Given the description of an element on the screen output the (x, y) to click on. 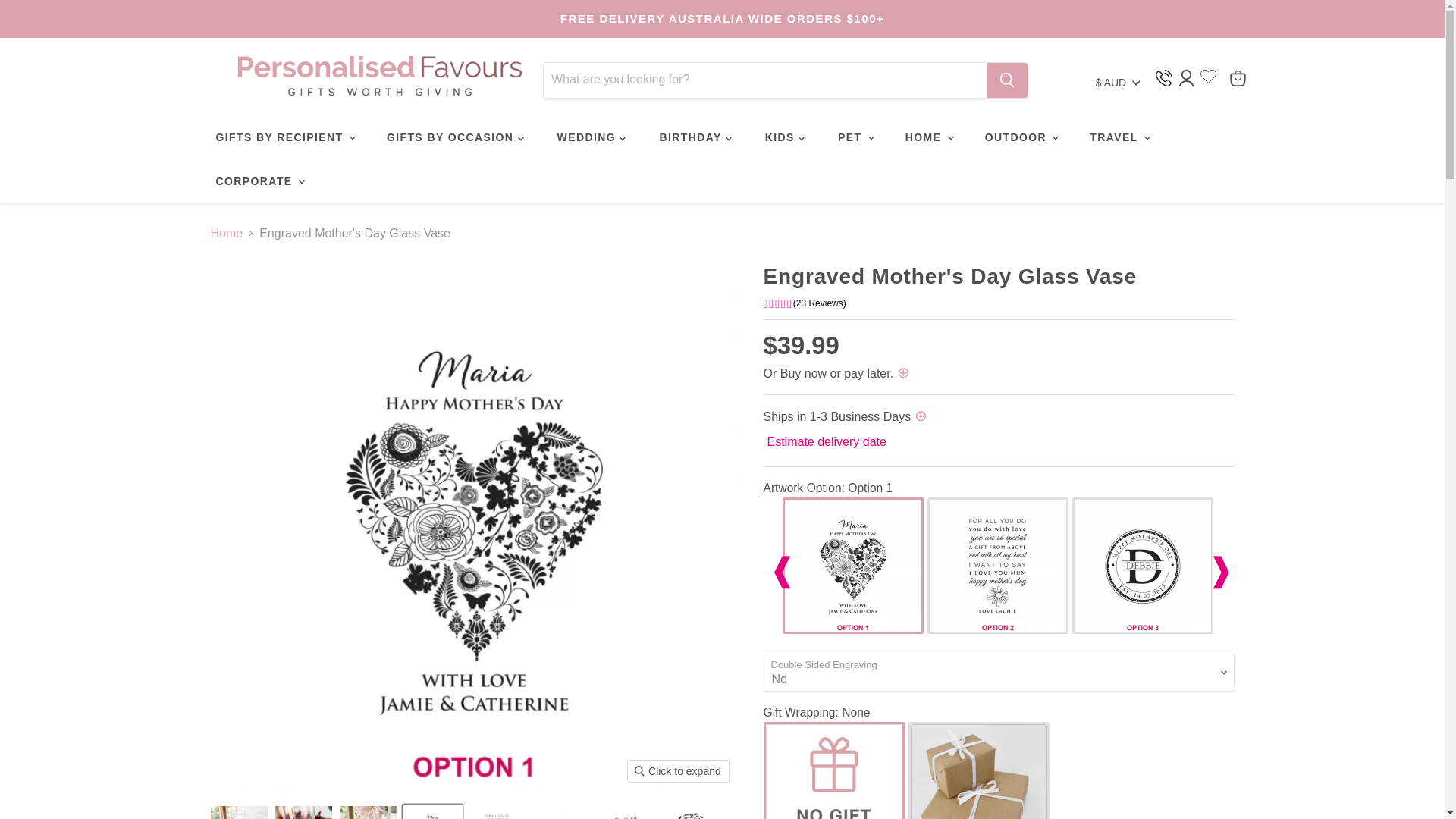
VIEW CART (1238, 77)
4.96 Stars - 23 Reviews (997, 303)
